Given the description of an element on the screen output the (x, y) to click on. 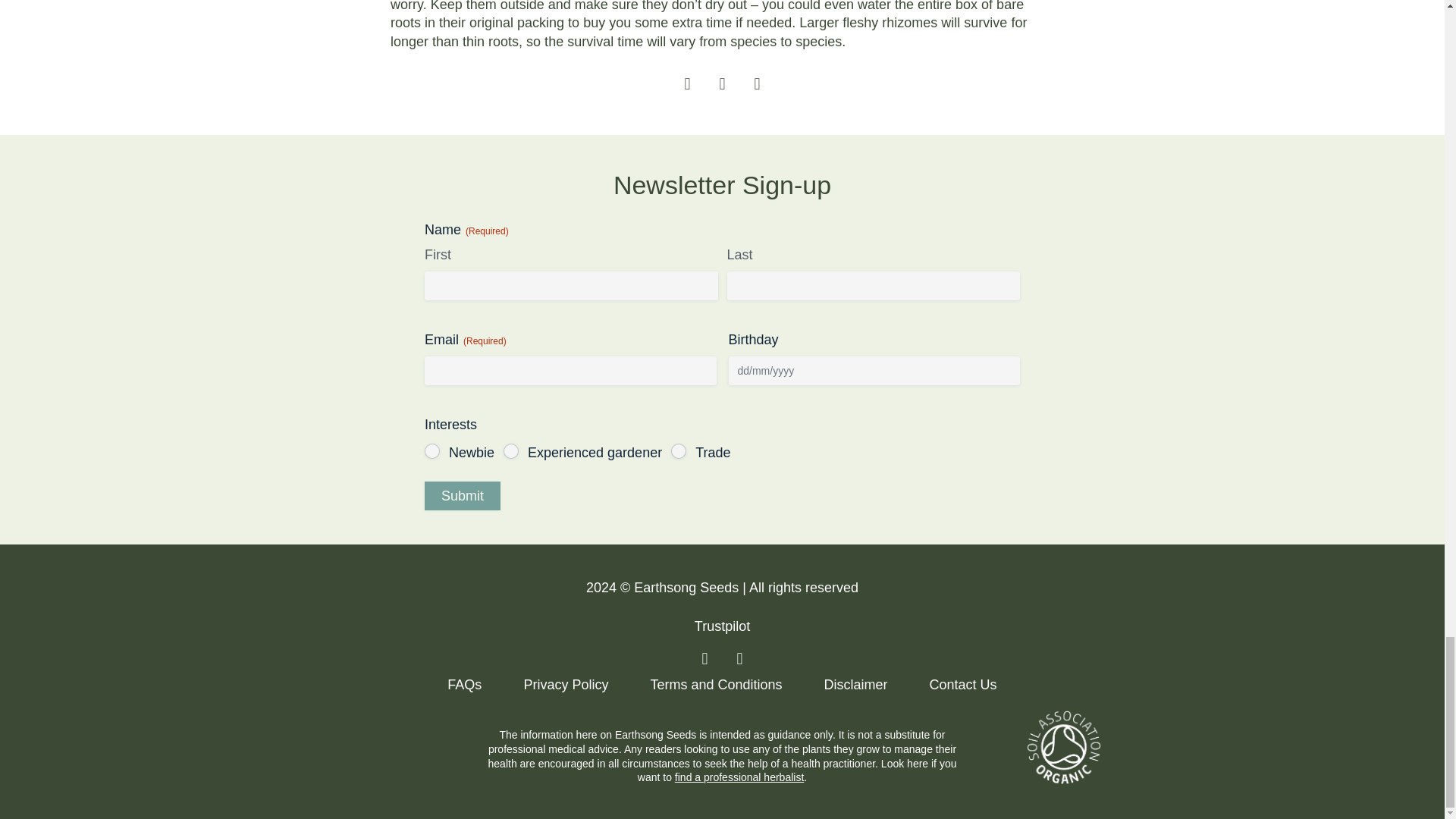
Privacy Policy (565, 684)
Newbie (432, 450)
Contact Us (963, 684)
Submit (462, 495)
Share on LinkedIn (757, 84)
FAQs (463, 684)
Trustpilot (721, 626)
Disclaimer (856, 684)
find a professional herbalist (739, 776)
Experienced gardener (510, 450)
